Given the description of an element on the screen output the (x, y) to click on. 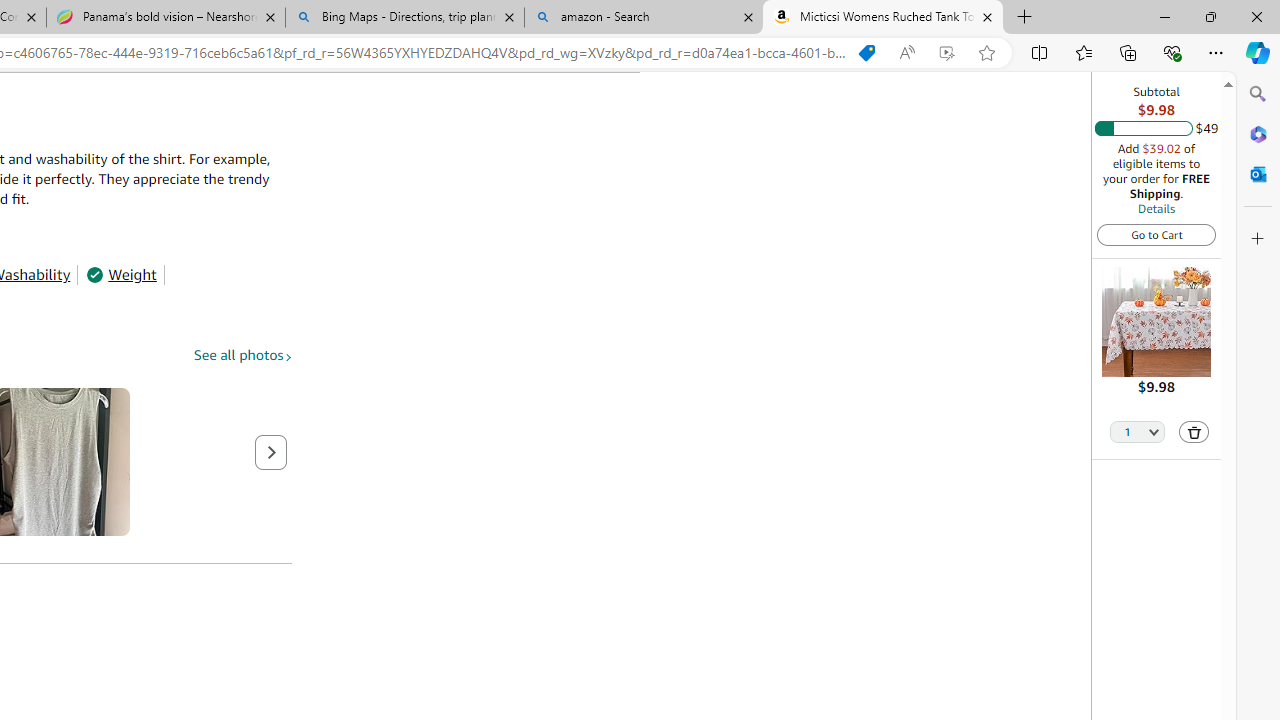
amazon - Search (643, 17)
Enhance video (946, 53)
Next page (271, 452)
Weight (121, 274)
